Given the description of an element on the screen output the (x, y) to click on. 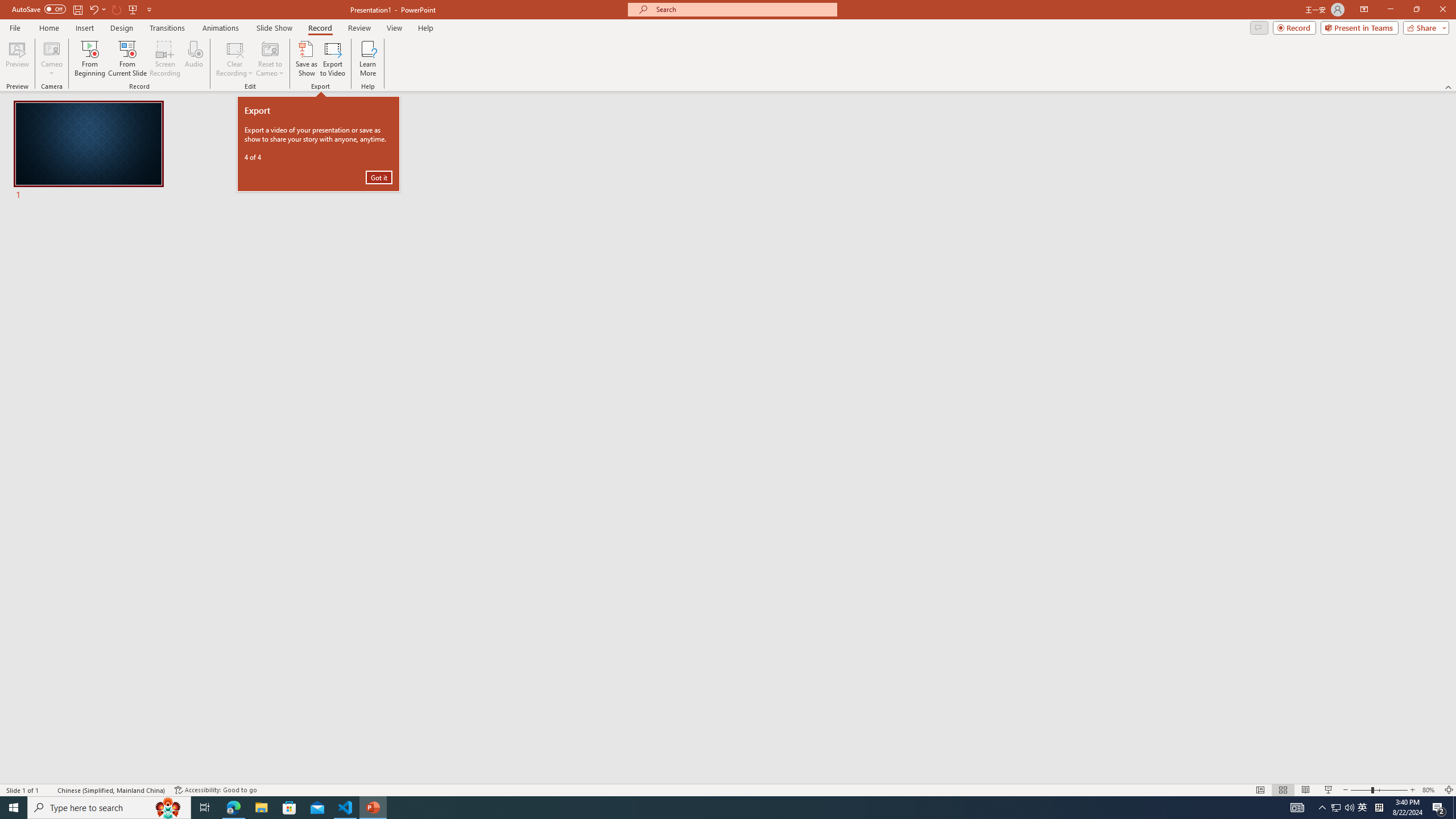
Record (320, 28)
Zoom 80% (1430, 790)
Clear Recording (234, 58)
Transitions (167, 28)
Show desktop (1454, 807)
Help (425, 28)
Customize Quick Access Toolbar (149, 9)
Microsoft Edge - 1 running window (233, 807)
Home (48, 28)
From Beginning (133, 9)
Animations (220, 28)
PowerPoint - 1 running window (1362, 807)
Notification Chevron (373, 807)
Zoom Out (1322, 807)
